Given the description of an element on the screen output the (x, y) to click on. 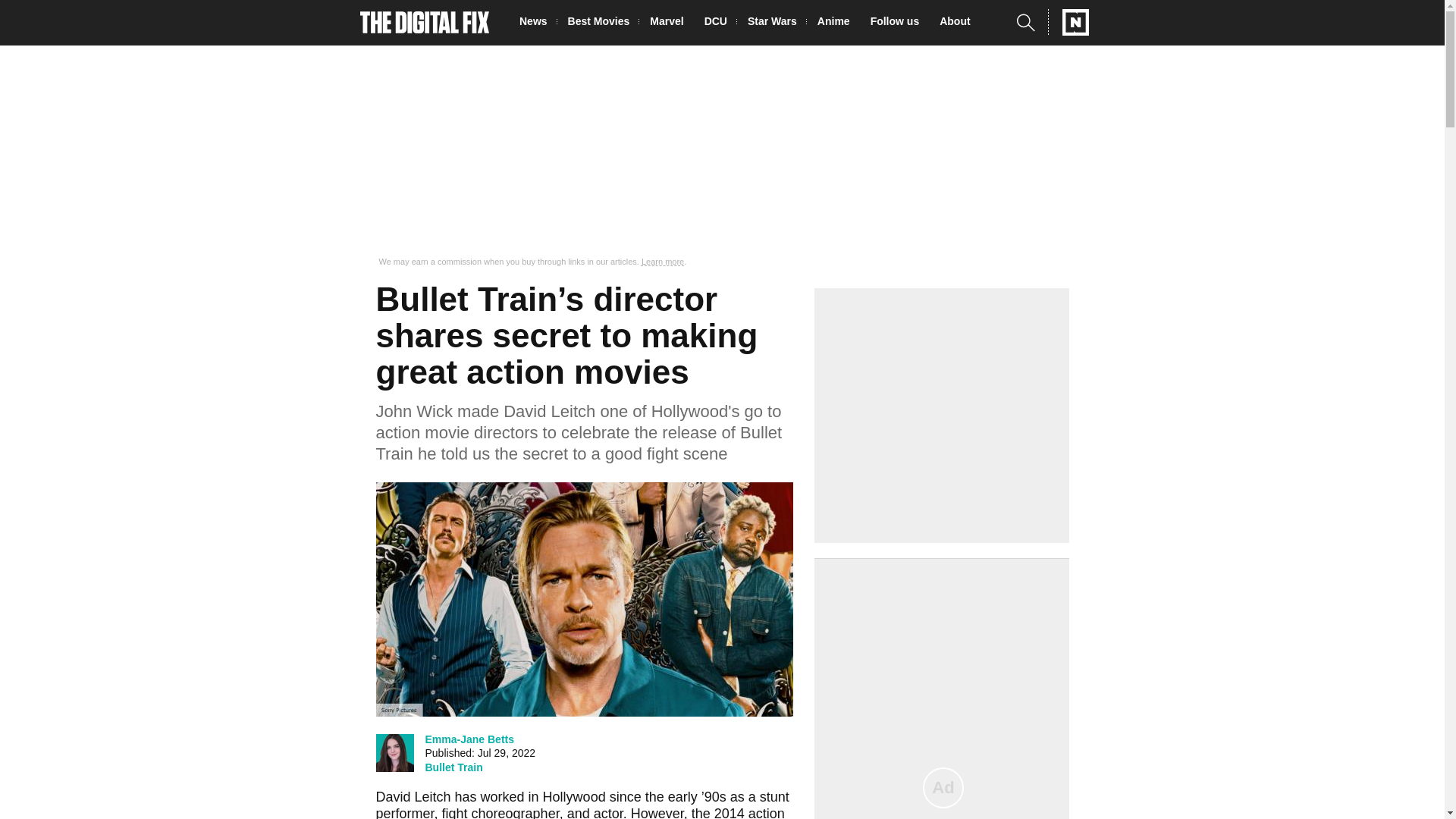
Anime News (837, 22)
Star Wars News (777, 22)
Star Wars (777, 22)
The Digital Fix (424, 22)
Best Movies (603, 22)
action movie (579, 812)
Follow us (899, 22)
Marvel Cinematic Universe News (671, 22)
Learn more (663, 261)
Bullet Train (453, 767)
Emma-Jane Betts (469, 739)
Anime (837, 22)
Network N Media (1068, 22)
Marvel (671, 22)
